Given the description of an element on the screen output the (x, y) to click on. 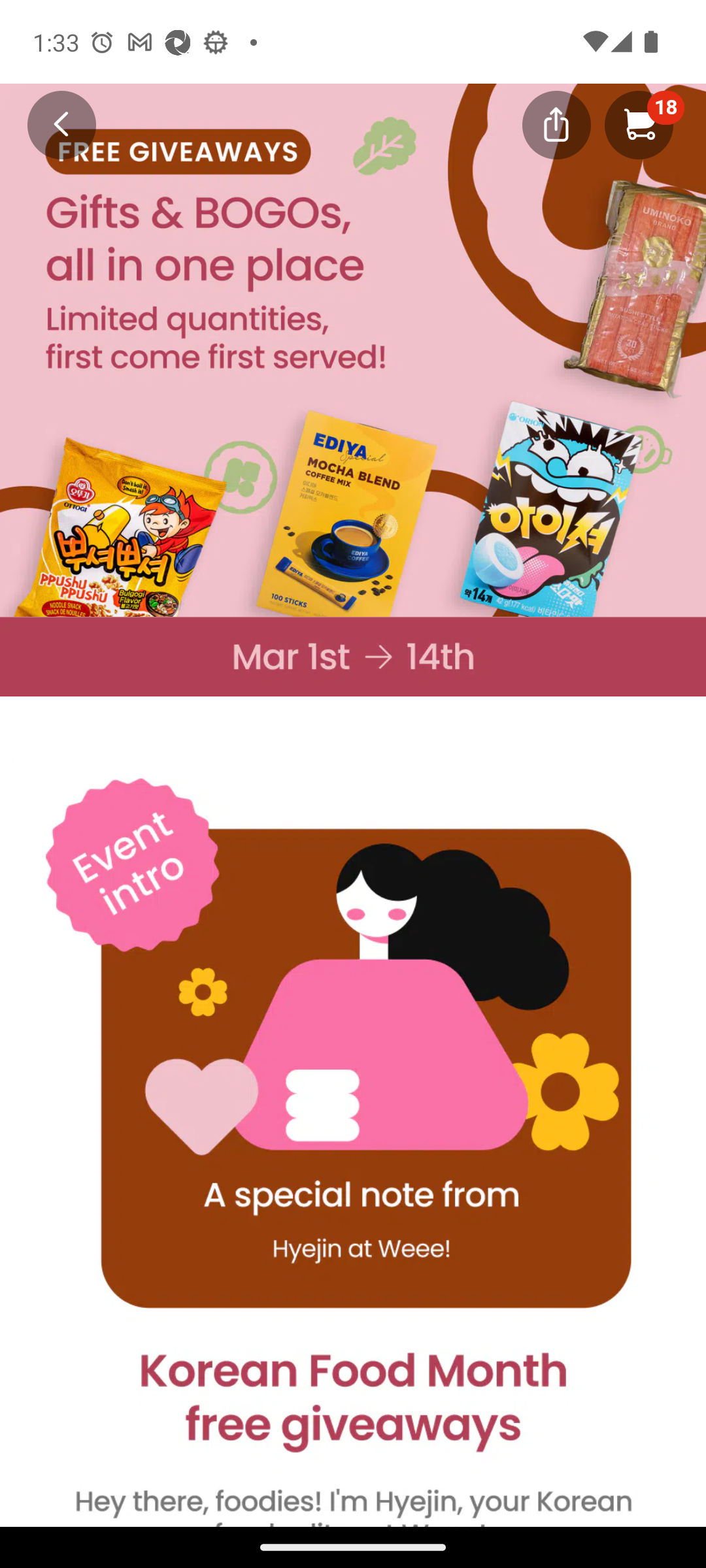
58D3B5299E7997B7.png!c984x0_q80_t1 (353, 349)
Weee! - Groceries Delivered (50, 123)
18 My cart (638, 124)
 (555, 123)
371C4382E2F7F001.png!c984x0_q80_t1 (353, 655)
